Given the description of an element on the screen output the (x, y) to click on. 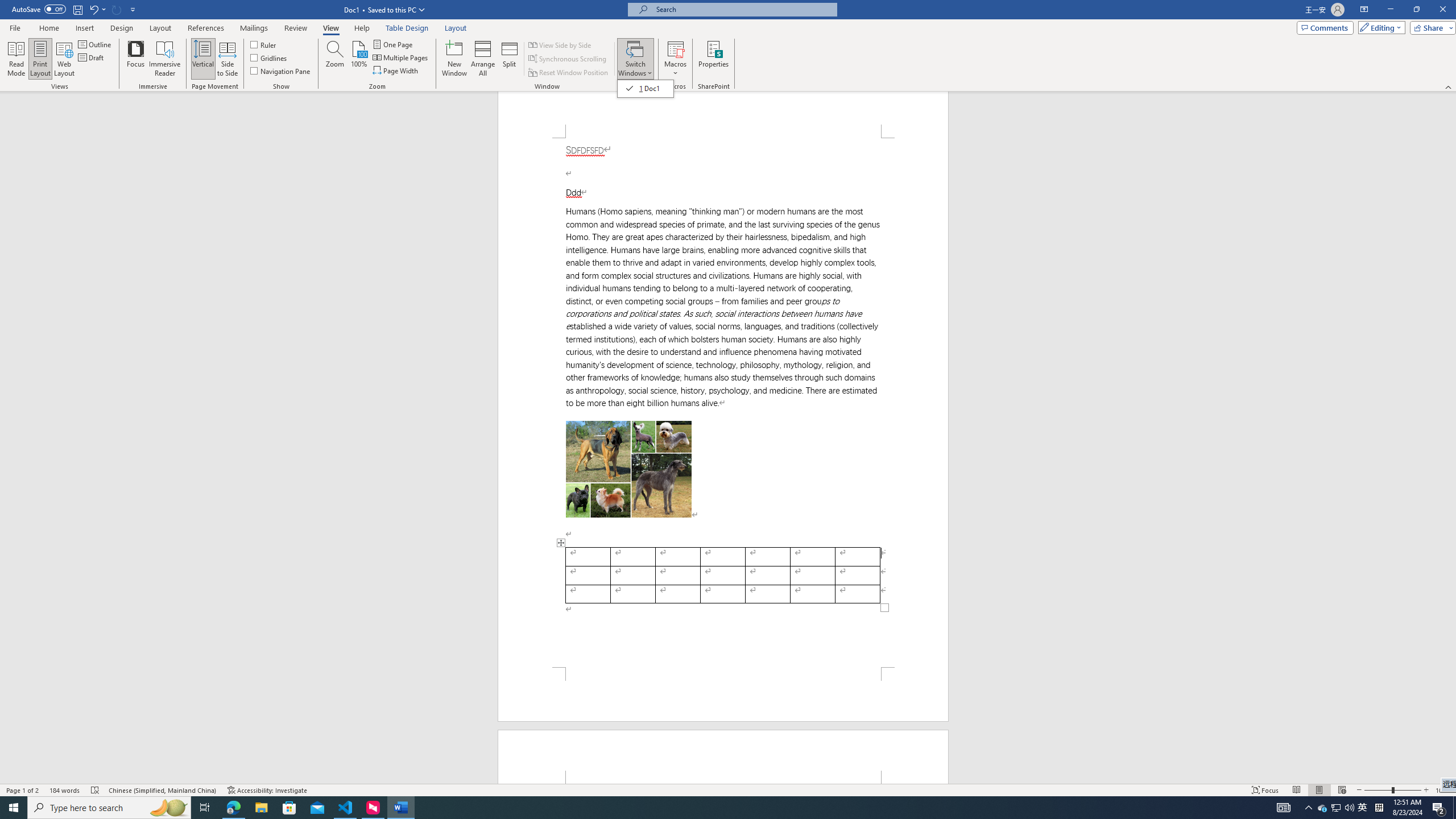
Start (13, 807)
AutoSave (38, 9)
File Explorer (261, 807)
Customize Quick Access Toolbar (133, 9)
Tray Input Indicator - Chinese (Simplified, China) (1378, 807)
Word - 1 running window (400, 807)
Spelling and Grammar Check Errors (94, 790)
Immersive Reader (165, 58)
Type here to search (108, 807)
Microsoft Edge - 1 running window (233, 807)
Collapse the Ribbon (1448, 86)
Synchronous Scrolling (568, 58)
Can't Repeat (117, 9)
Insert (83, 28)
Split (509, 58)
